Given the description of an element on the screen output the (x, y) to click on. 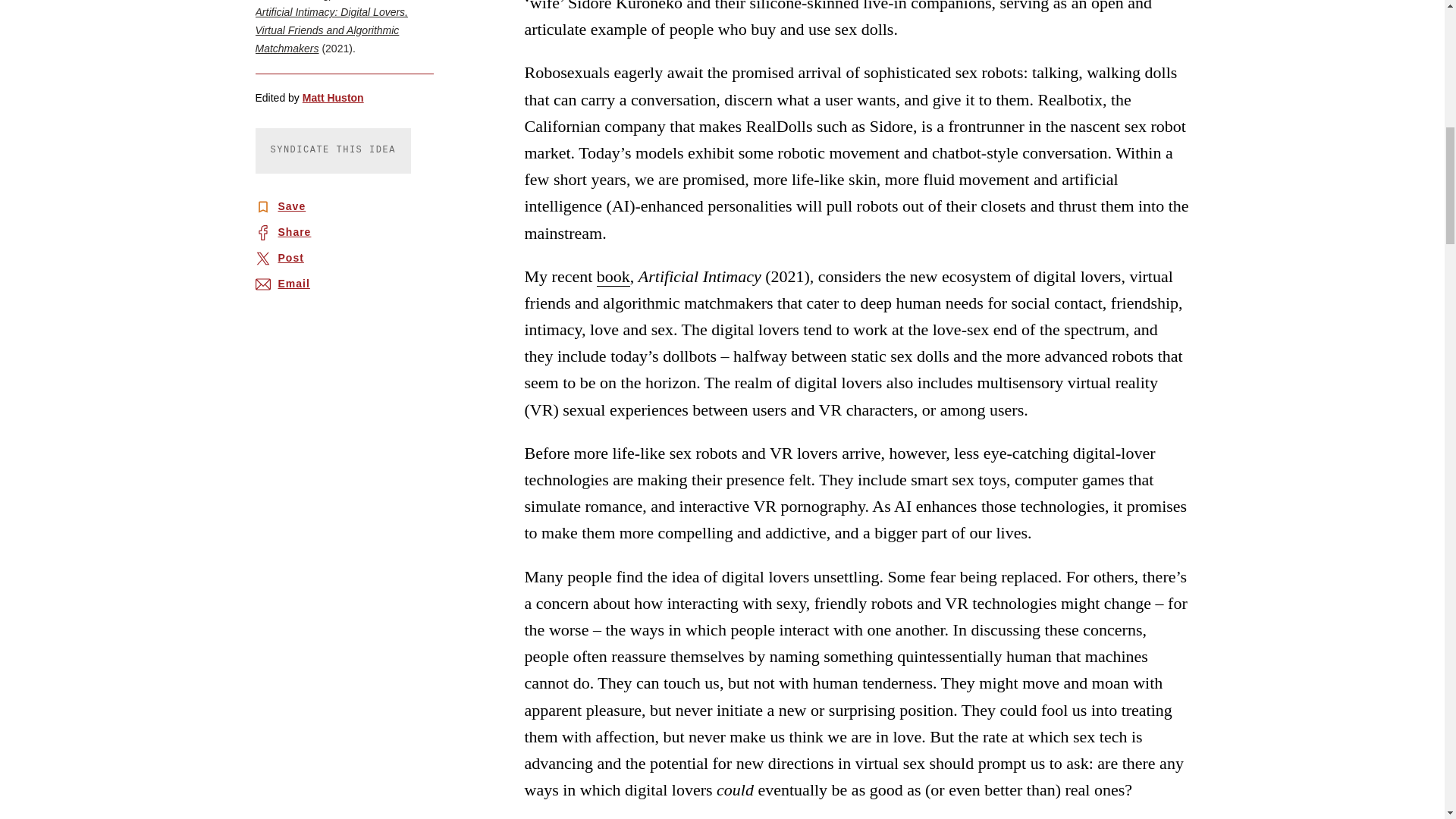
book (613, 276)
SYNDICATE THIS IDEA (332, 149)
Matt Huston (333, 98)
